Given the description of an element on the screen output the (x, y) to click on. 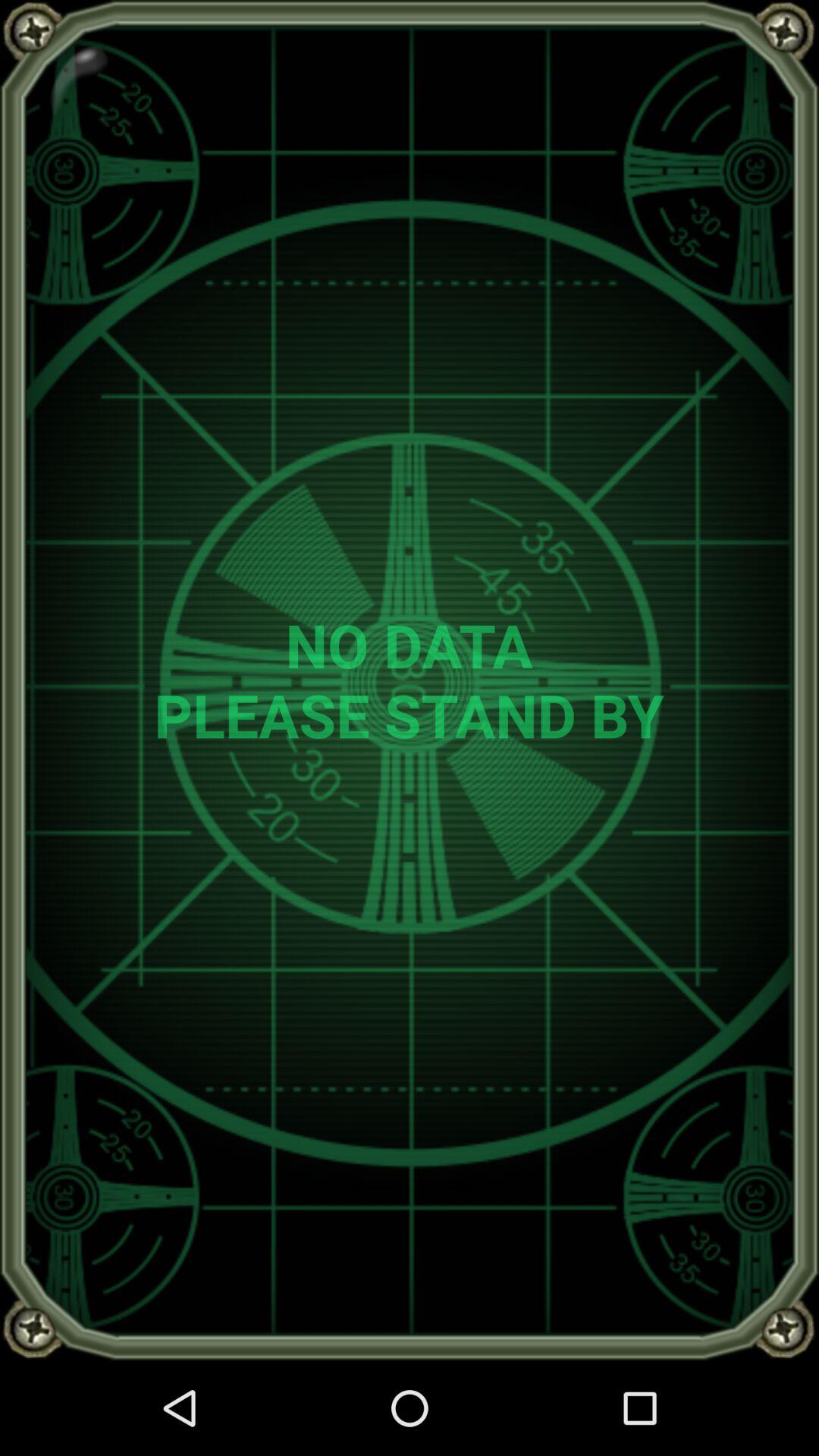
jump until the no data please app (409, 679)
